Given the description of an element on the screen output the (x, y) to click on. 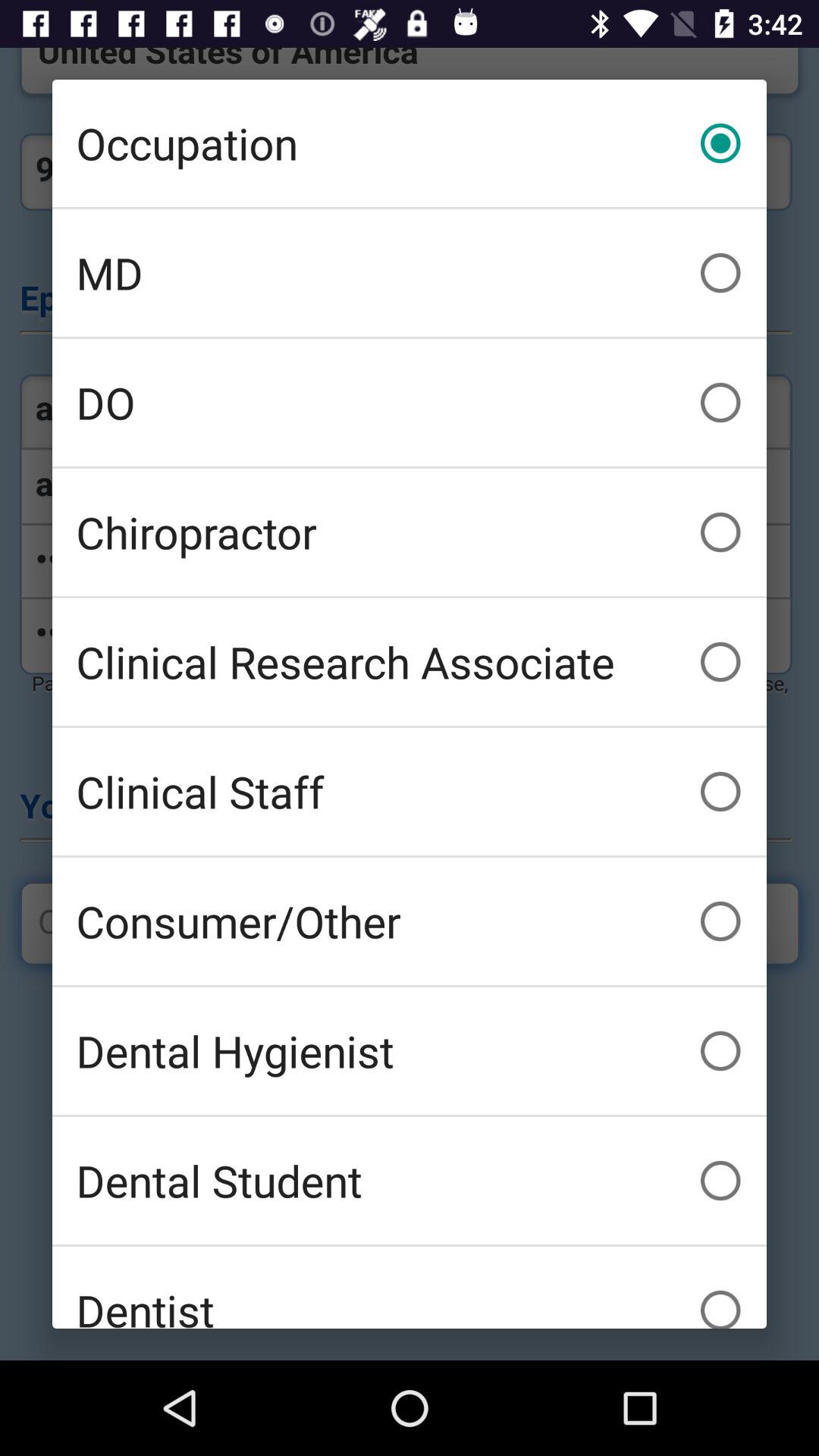
choose item above the dental hygienist icon (409, 921)
